Given the description of an element on the screen output the (x, y) to click on. 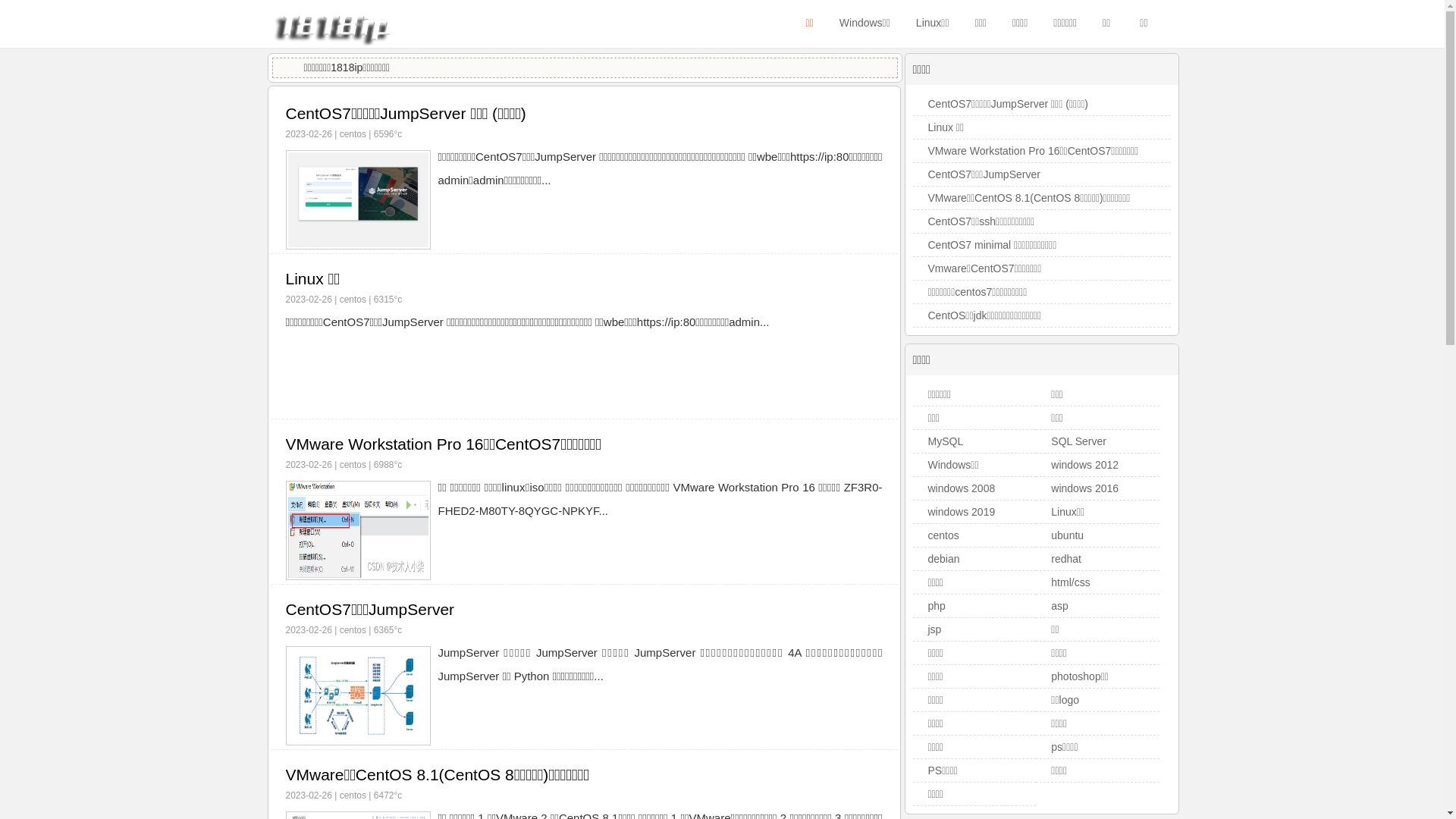
jsp Element type: text (934, 629)
debian Element type: text (944, 558)
centos Element type: text (352, 299)
centos Element type: text (943, 535)
ubuntu Element type: text (1067, 535)
centos Element type: text (352, 464)
centos Element type: text (352, 795)
html/css Element type: text (1070, 582)
redhat Element type: text (1066, 558)
centos Element type: text (352, 133)
asp Element type: text (1059, 605)
MySQL Element type: text (945, 441)
php Element type: text (936, 605)
windows 2008 Element type: text (961, 488)
centos Element type: text (352, 629)
windows 2019 Element type: text (961, 511)
windows 2012 Element type: text (1084, 464)
windows 2016 Element type: text (1084, 488)
SQL Server Element type: text (1078, 441)
